Given the description of an element on the screen output the (x, y) to click on. 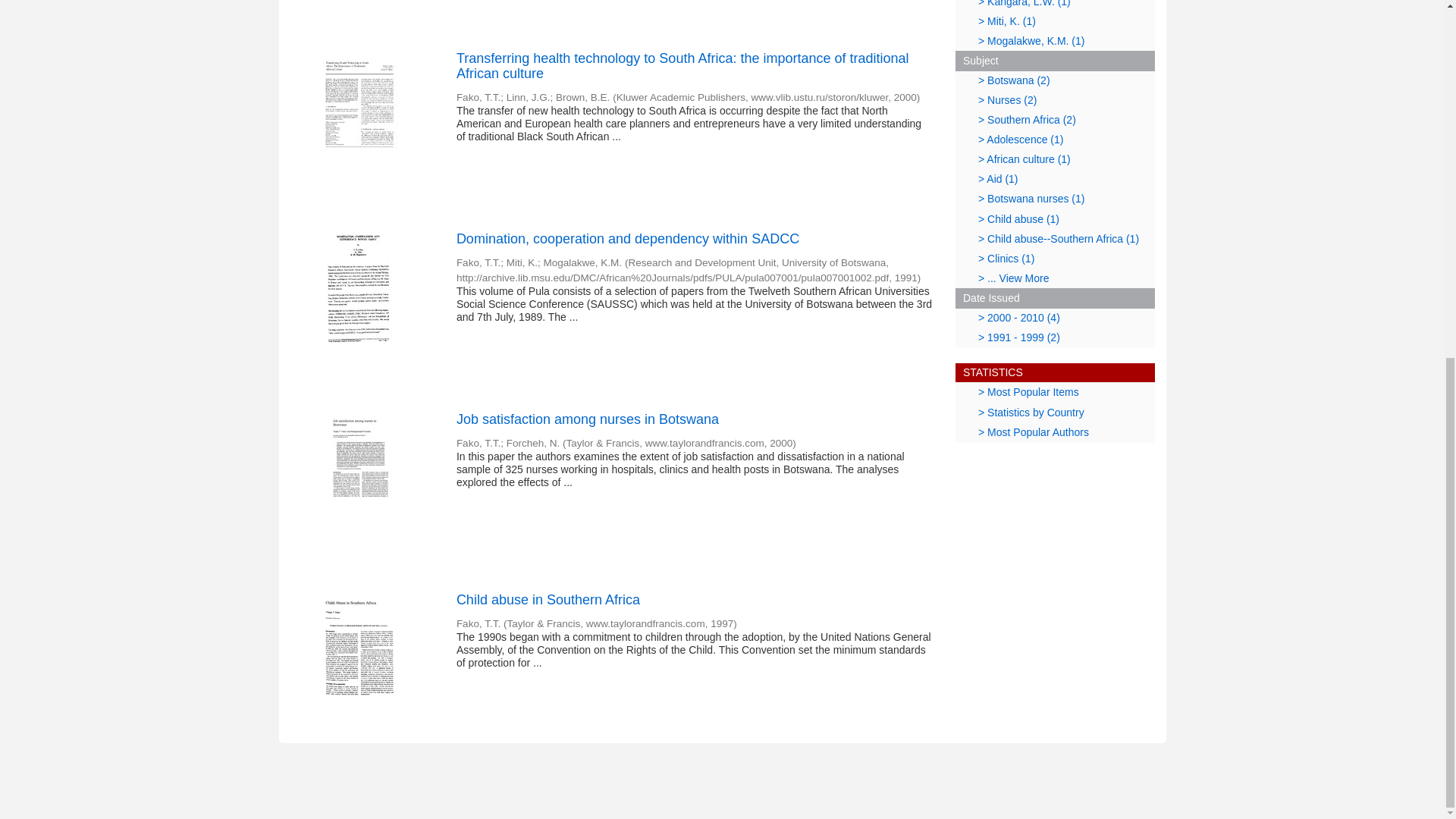
Domination, cooperation and dependency within SADCC  (695, 239)
Job satisfaction among nurses in Botswana  (695, 419)
